Given the description of an element on the screen output the (x, y) to click on. 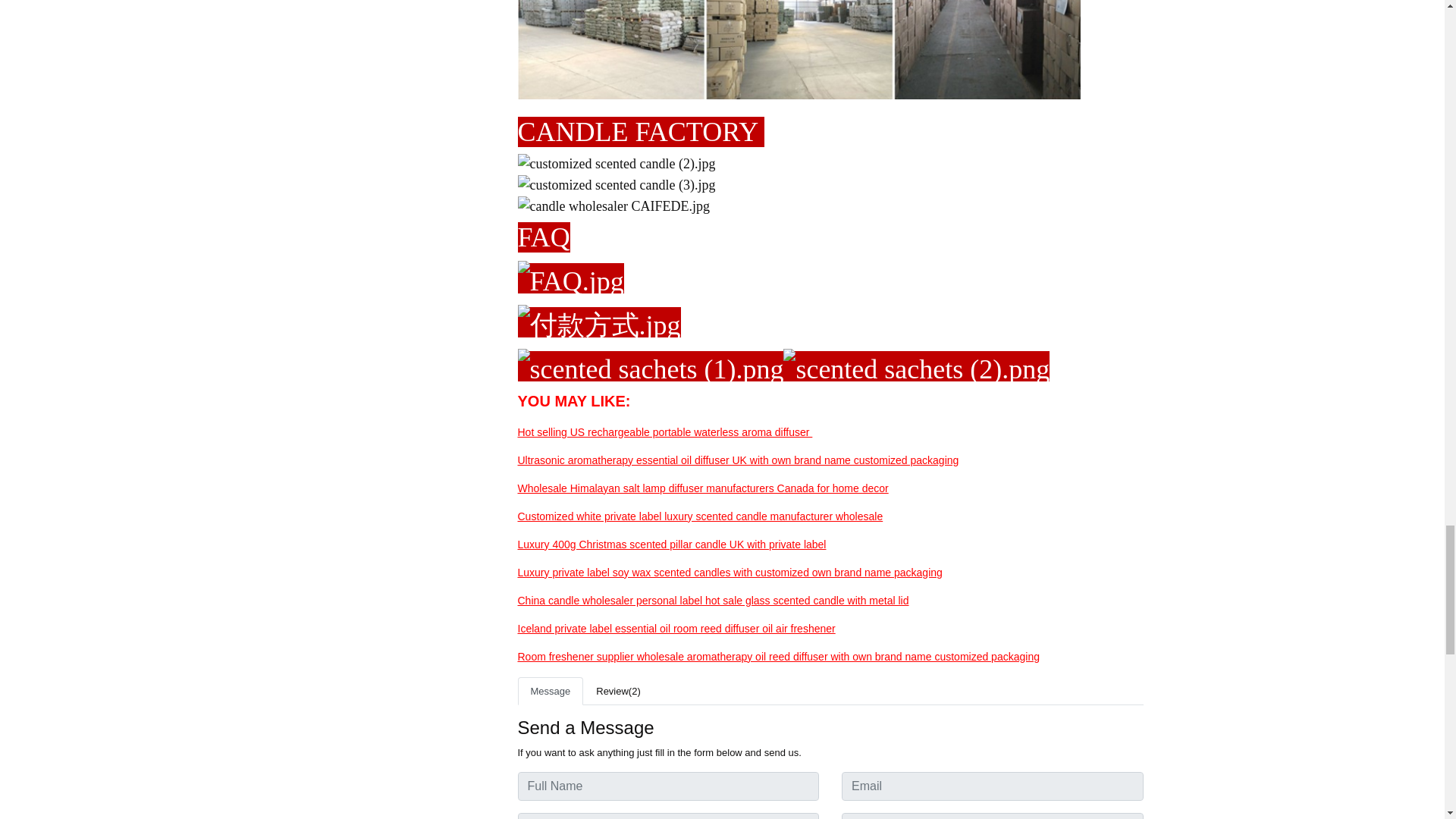
candle wholesaler CAIFEDE333549.jpg (612, 206)
FAQ138284.jpg (569, 281)
